Given the description of an element on the screen output the (x, y) to click on. 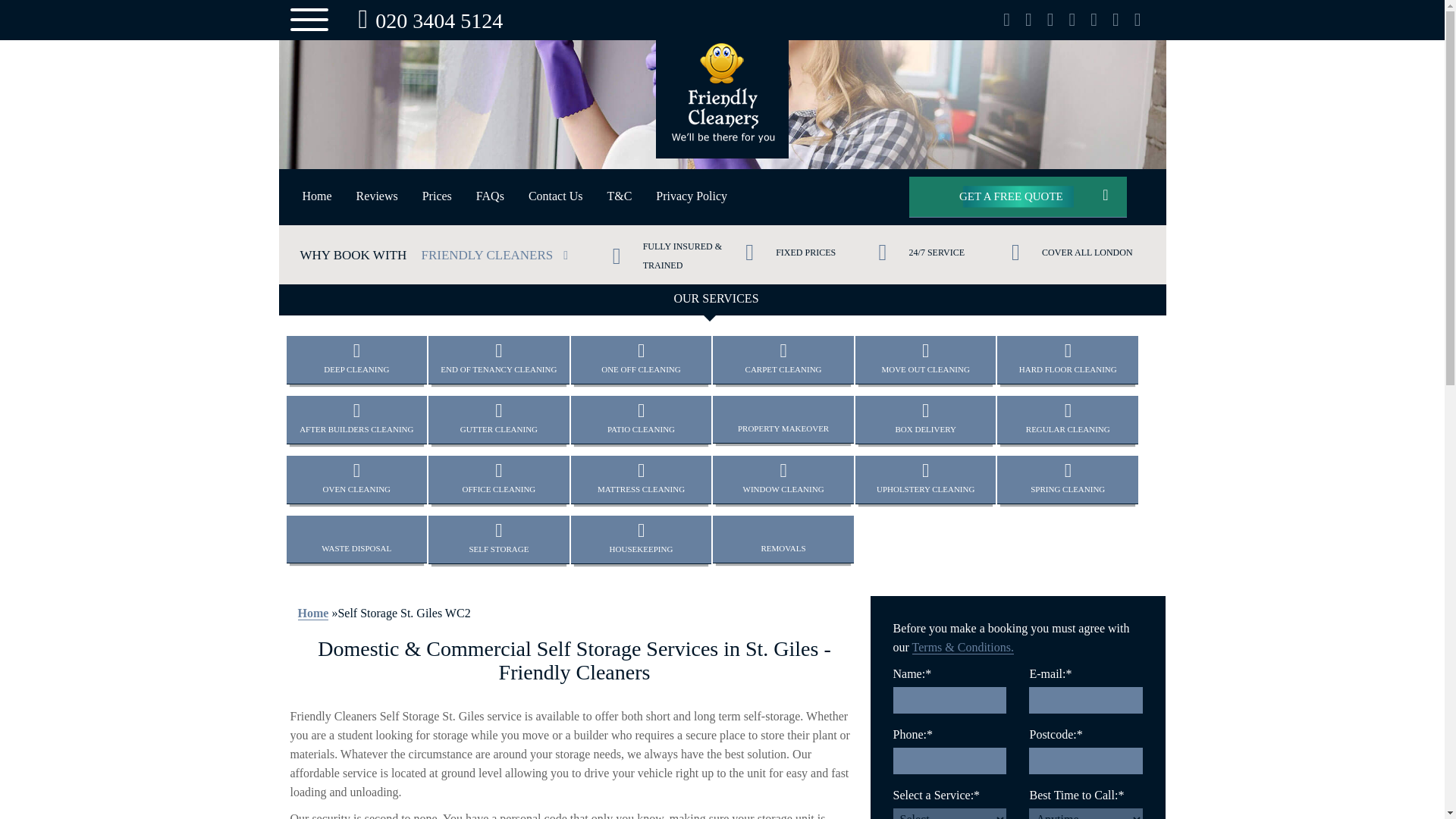
FAQs (490, 196)
PROPERTY MAKEOVER (783, 419)
AFTER BUILDERS CLEANING (357, 419)
Privacy Policy (691, 196)
020 3404 5124 (426, 20)
SELF STORAGE (498, 539)
GET A FREE QUOTE (1017, 196)
BOX DELIVERY (925, 419)
Terms and Conditions (618, 196)
GUTTER CLEANING (498, 419)
